Given the description of an element on the screen output the (x, y) to click on. 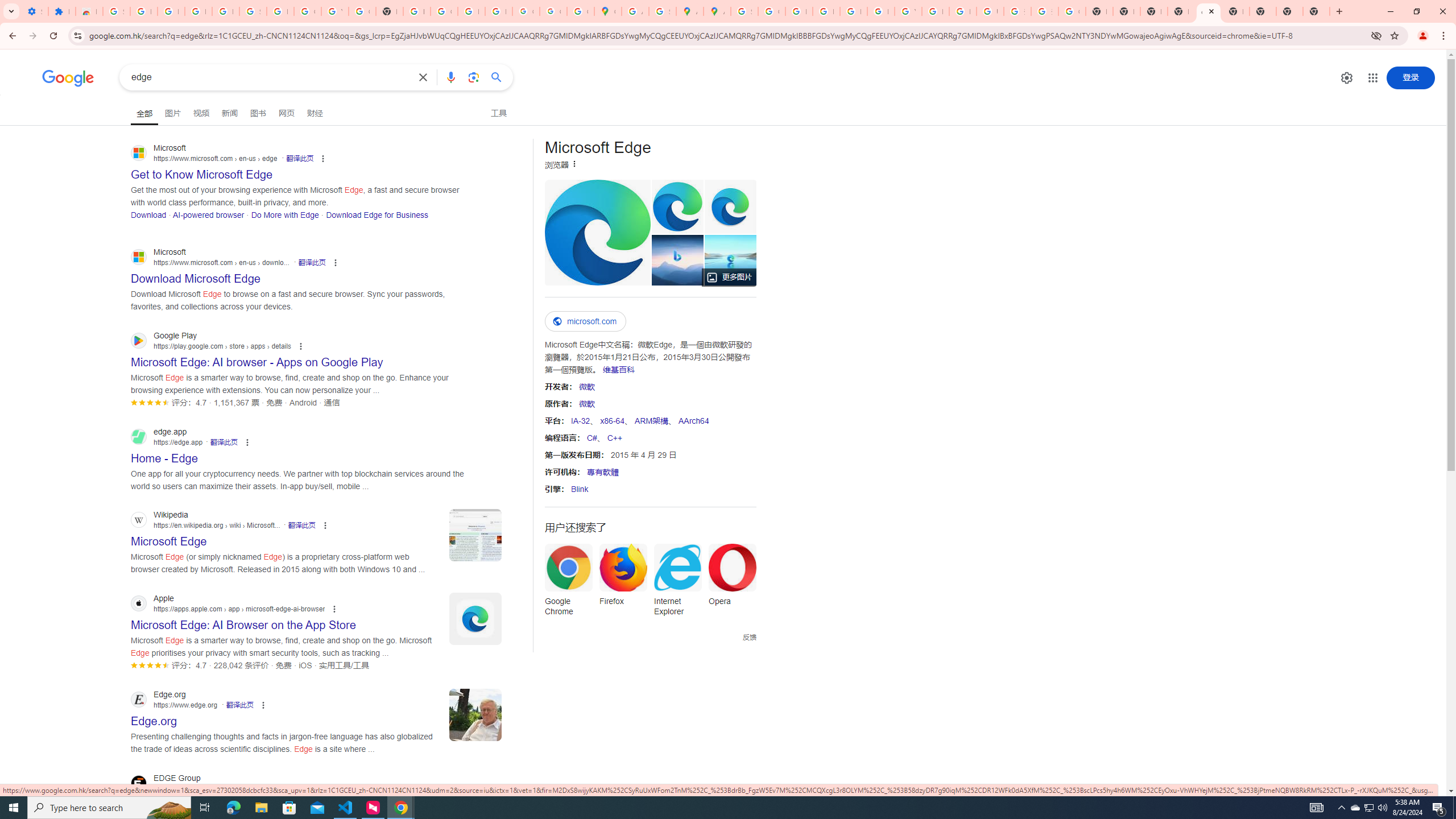
Learn how to find your photos - Google Photos Help (197, 11)
Do More with Edge (284, 214)
upload.wikimedia.org/wikipedia/commons/9/98/Micros... (597, 232)
Download (148, 214)
AArch64 (693, 420)
